Given the description of an element on the screen output the (x, y) to click on. 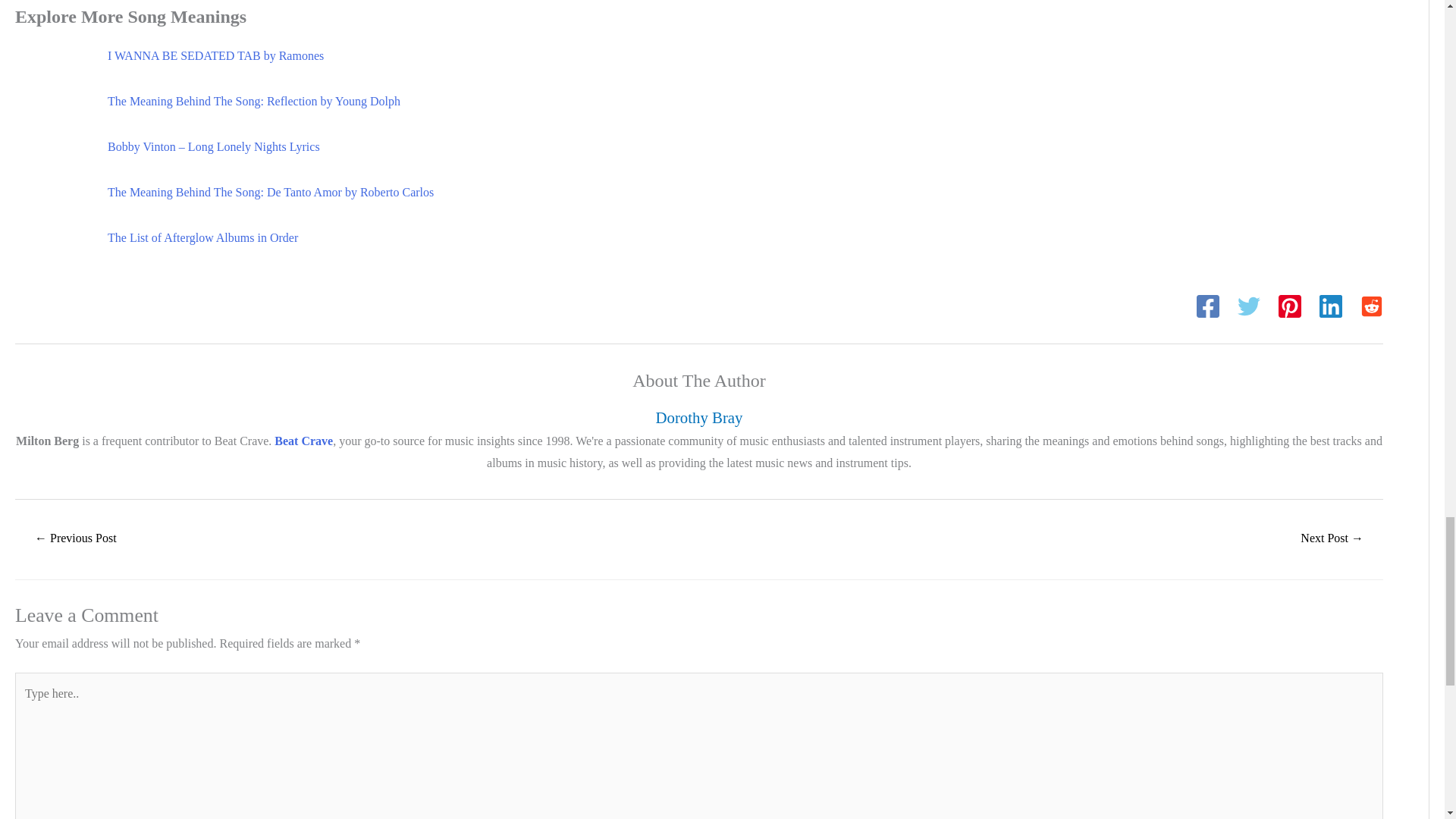
I WANNA BE SEDATED TAB by Ramones (215, 55)
The List of Afterglow Albums in Order (202, 237)
The Meaning Behind The Song: Reflection by Young Dolph (253, 101)
The Meaning Behind The Song: De Tanto Amor by Roberto Carlos (270, 192)
